Given the description of an element on the screen output the (x, y) to click on. 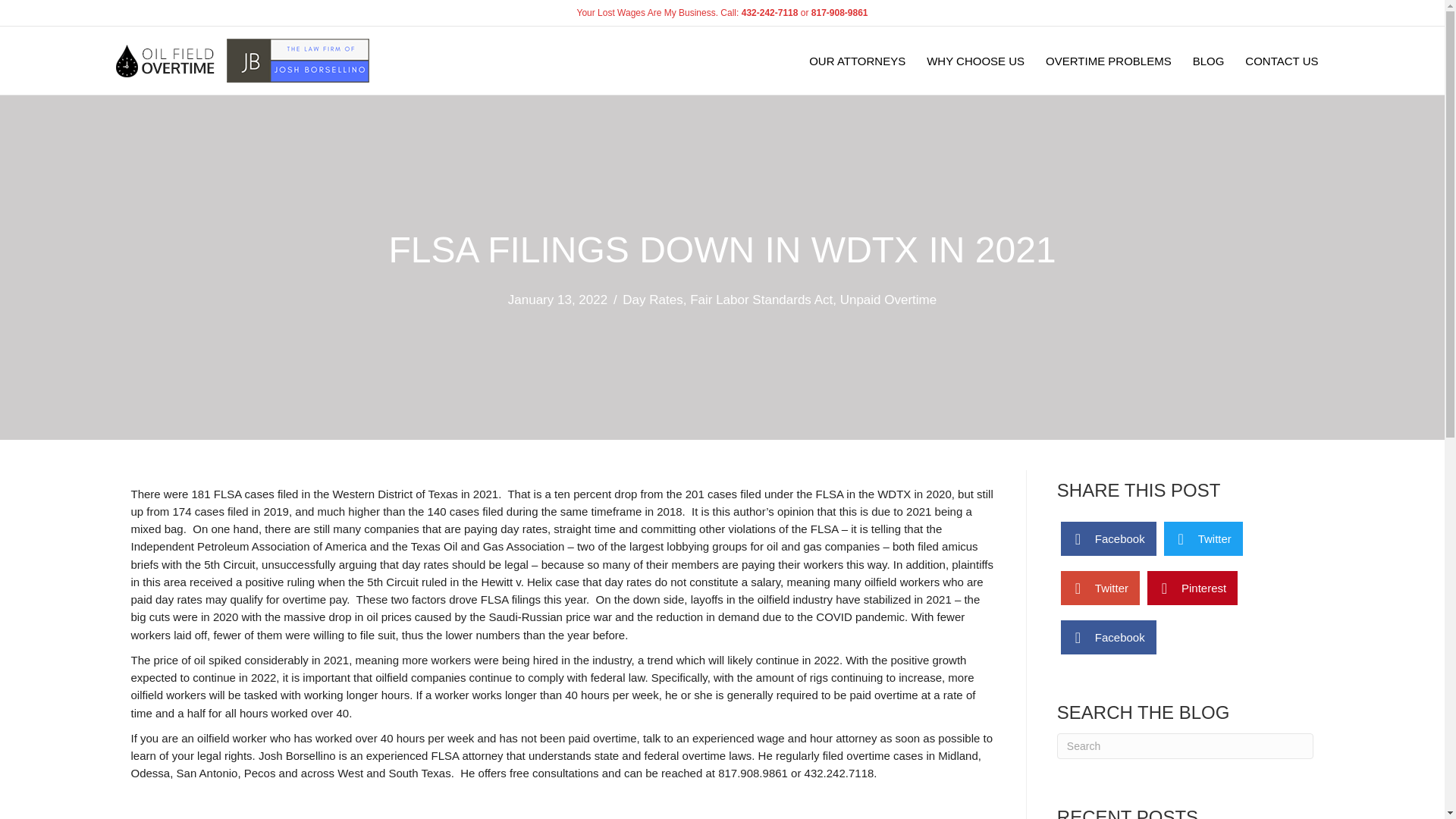
WHY CHOOSE US (975, 59)
Type and press Enter to search. (1185, 746)
Day Rates (652, 299)
817-908-9861 (838, 12)
432-242-7118 (769, 12)
BLOG (1208, 59)
OVERTIME PROBLEMS (1108, 59)
Pinterest (1192, 587)
Unpaid Overtime (888, 299)
Facebook (1108, 538)
